Given the description of an element on the screen output the (x, y) to click on. 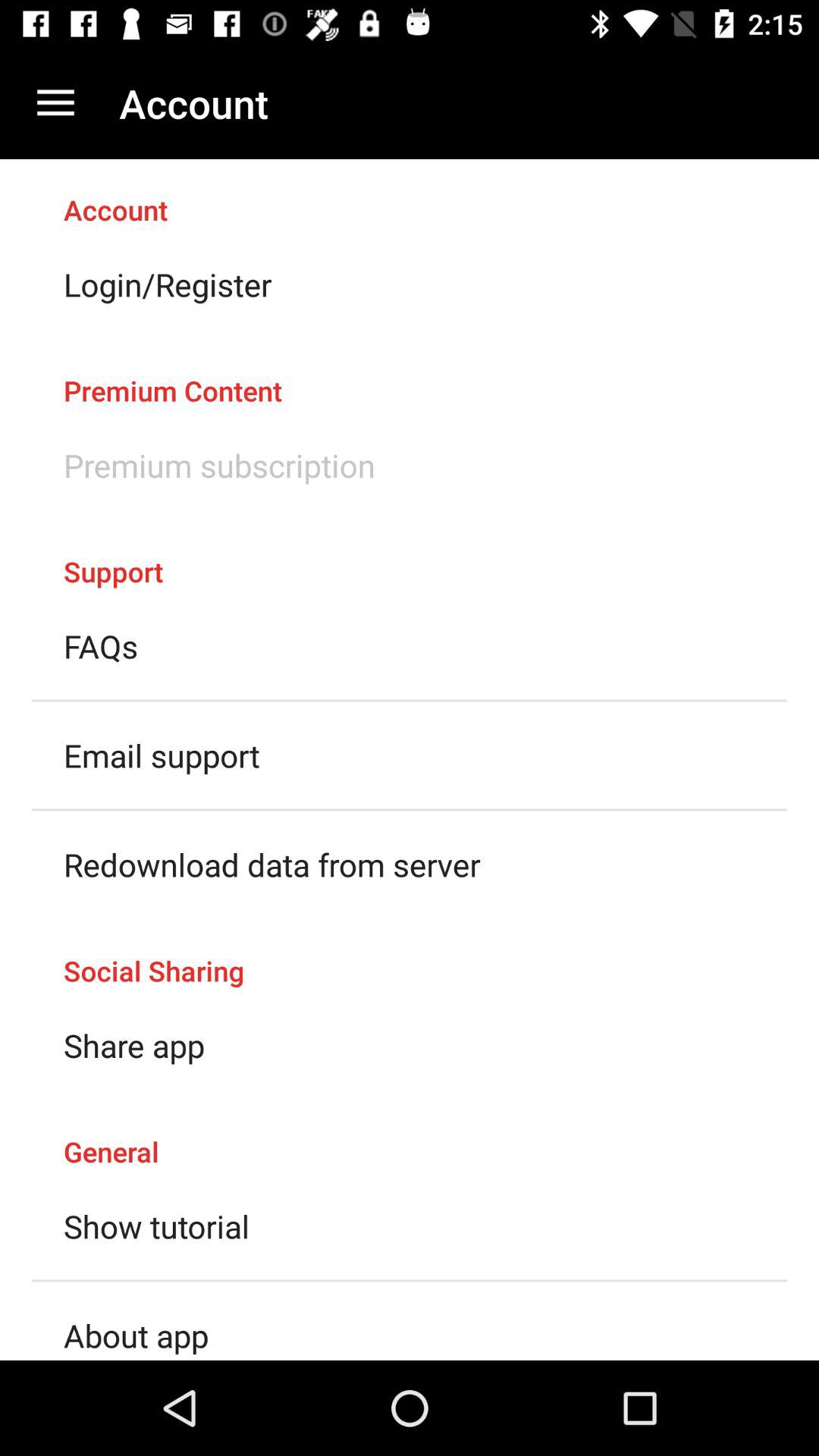
click social sharing item (409, 954)
